Given the description of an element on the screen output the (x, y) to click on. 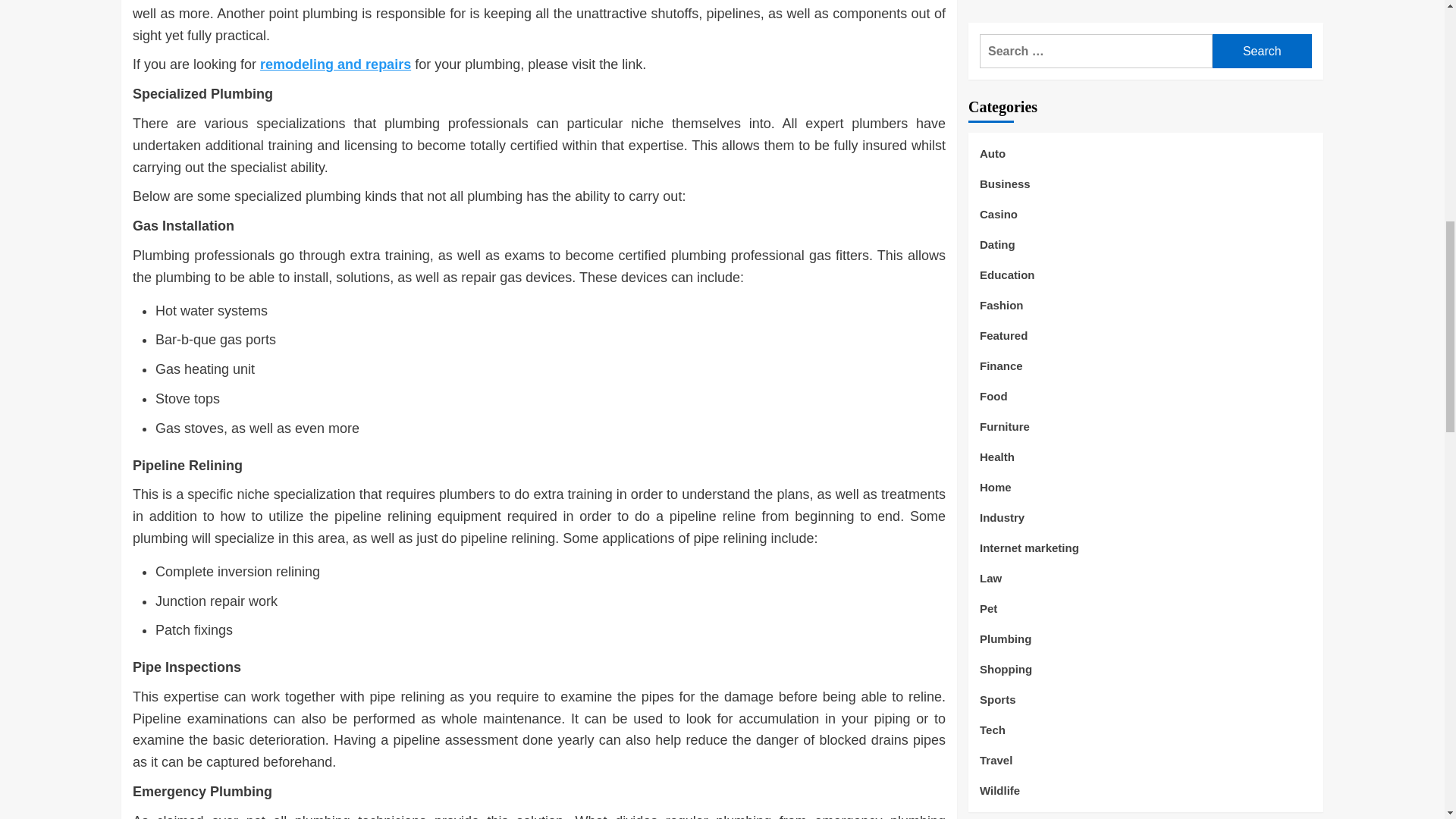
remodeling and repairs (335, 64)
